Given the description of an element on the screen output the (x, y) to click on. 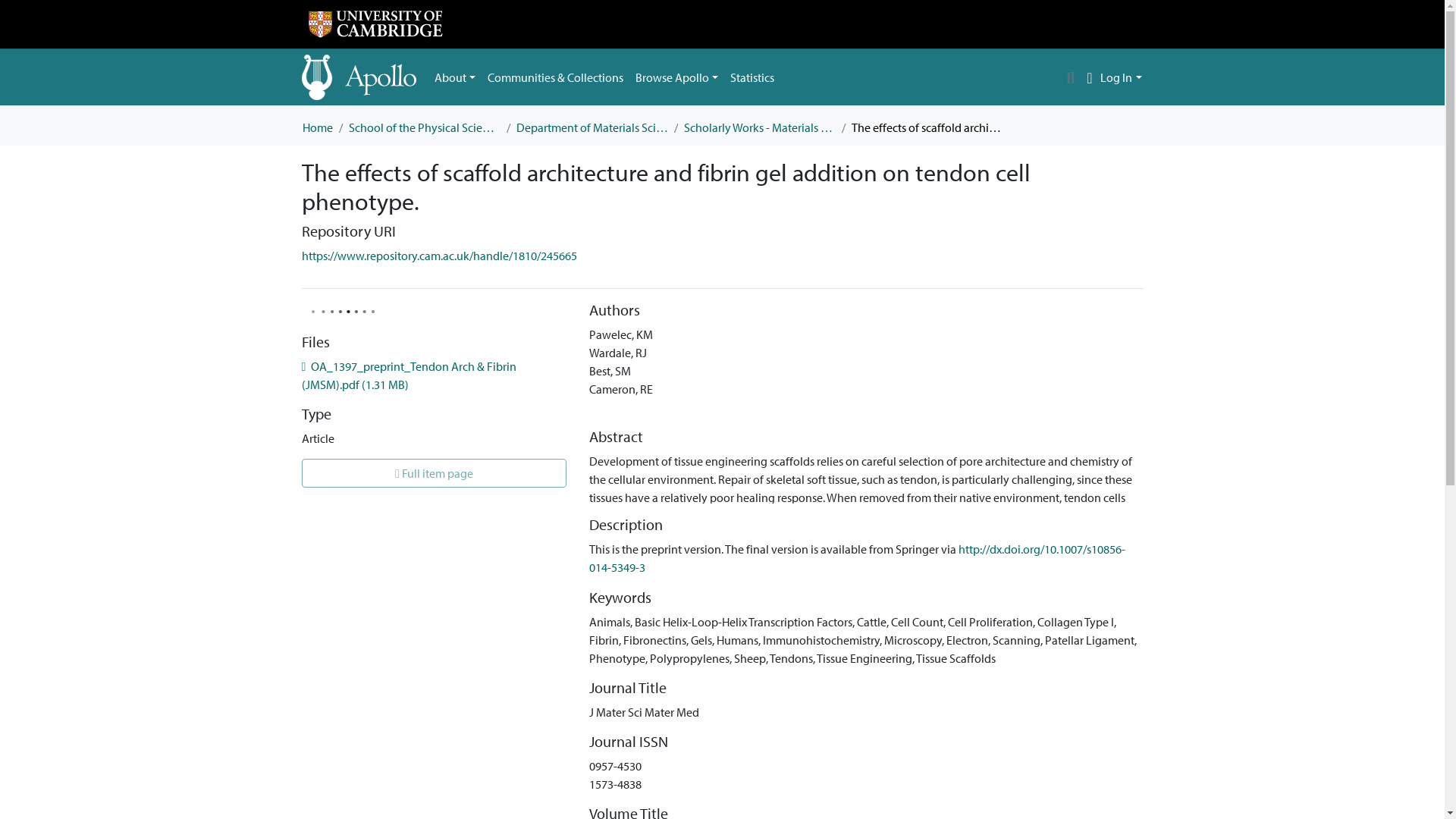
Scholarly Works - Materials Science and Metallurgy (759, 126)
School of the Physical Sciences (424, 126)
Log In (1120, 77)
Home (316, 126)
Statistics (751, 77)
Browse Apollo (675, 77)
About (454, 77)
Department of Materials Science and Metallurgy (590, 126)
Full item page (434, 472)
Language switch (1089, 76)
